Given the description of an element on the screen output the (x, y) to click on. 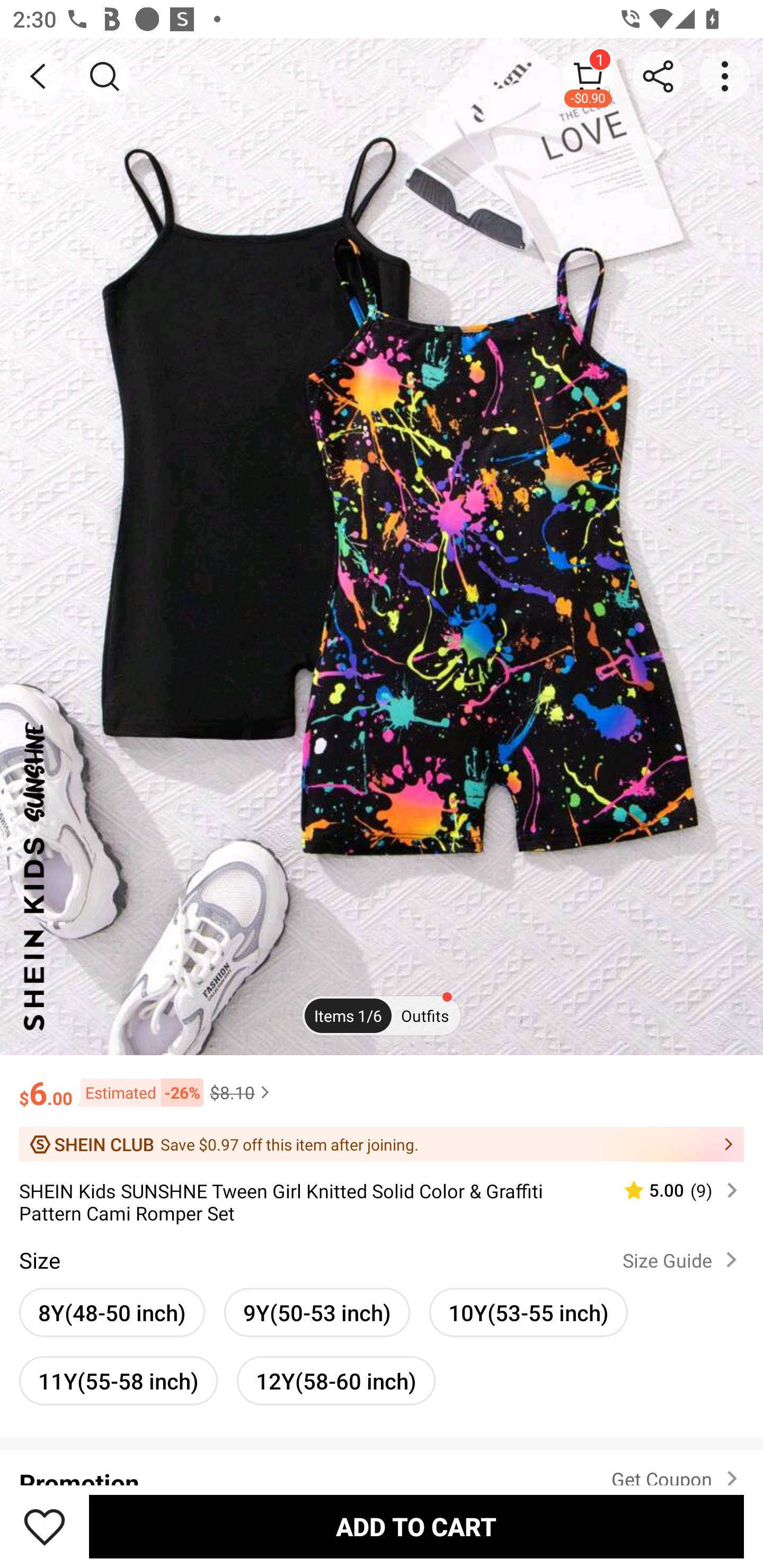
BACK (38, 75)
1 -$0.90 (588, 75)
Items 1/6 (347, 1015)
Outfits (424, 1015)
Estimated -26% (137, 1092)
$8.10 (241, 1091)
Save $0.97 off this item after joining. (381, 1144)
5.00 (9) (672, 1189)
Size (39, 1259)
Size Guide (682, 1259)
8Y(48-50 inch) 8Y(48-50 inch)unselected option (112, 1312)
9Y(50-53 inch) 9Y(50-53 inch)unselected option (317, 1312)
10Y(53-55 inch) 10Y(53-55 inch)unselected option (527, 1312)
11Y(55-58 inch) 11Y(55-58 inch)unselected option (118, 1380)
12Y(58-60 inch) 12Y(58-60 inch)unselected option (335, 1380)
ADD TO CART (416, 1526)
Save (44, 1526)
